Given the description of an element on the screen output the (x, y) to click on. 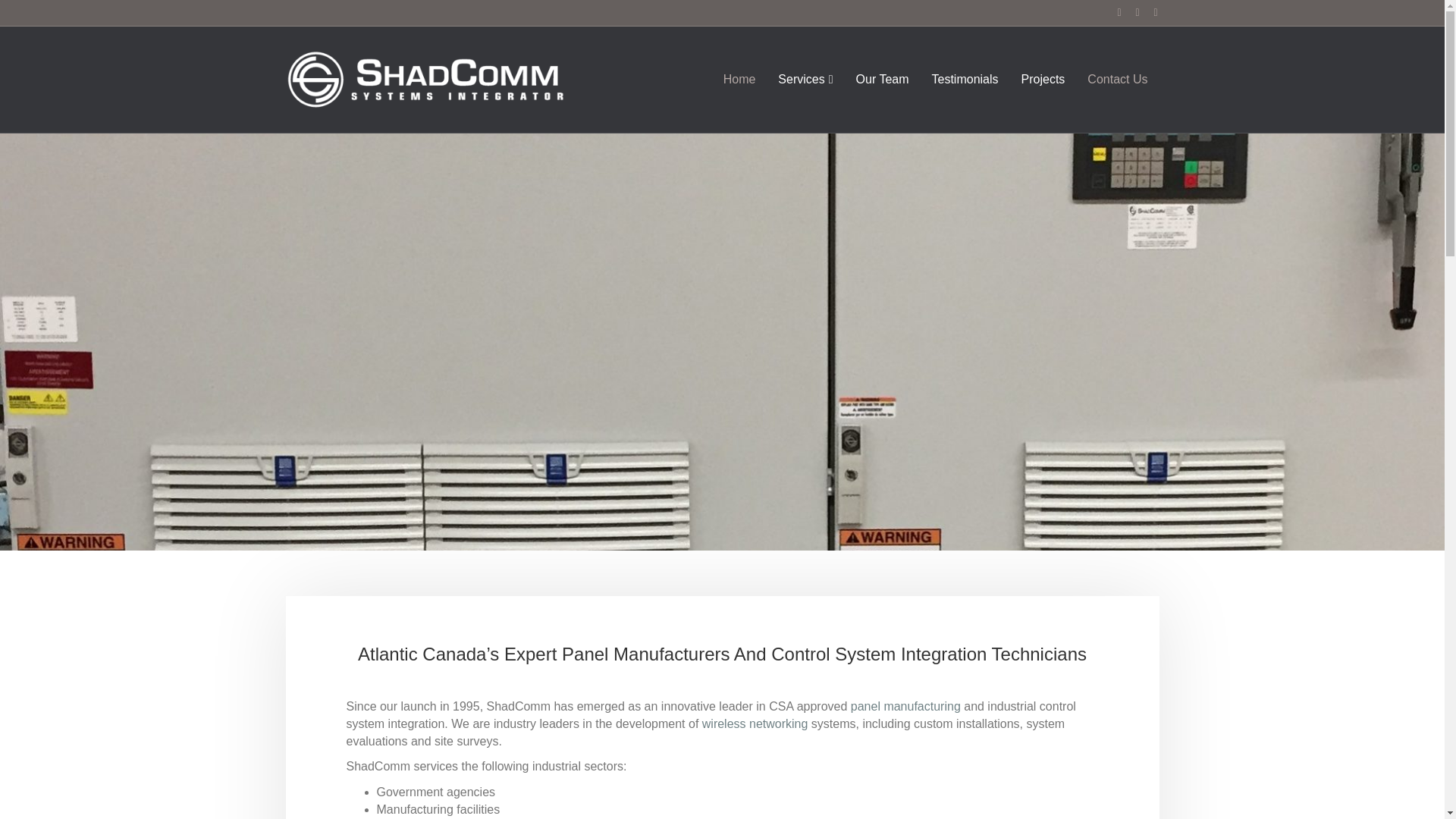
Services (805, 79)
Instagram (1147, 11)
Testimonials (965, 79)
Contact Us (1116, 79)
Projects (1043, 79)
panel manufacturing (905, 706)
Youtube (1129, 11)
wireless networking (754, 723)
Home (739, 79)
Our Team (882, 79)
Facebook (1111, 11)
